Given the description of an element on the screen output the (x, y) to click on. 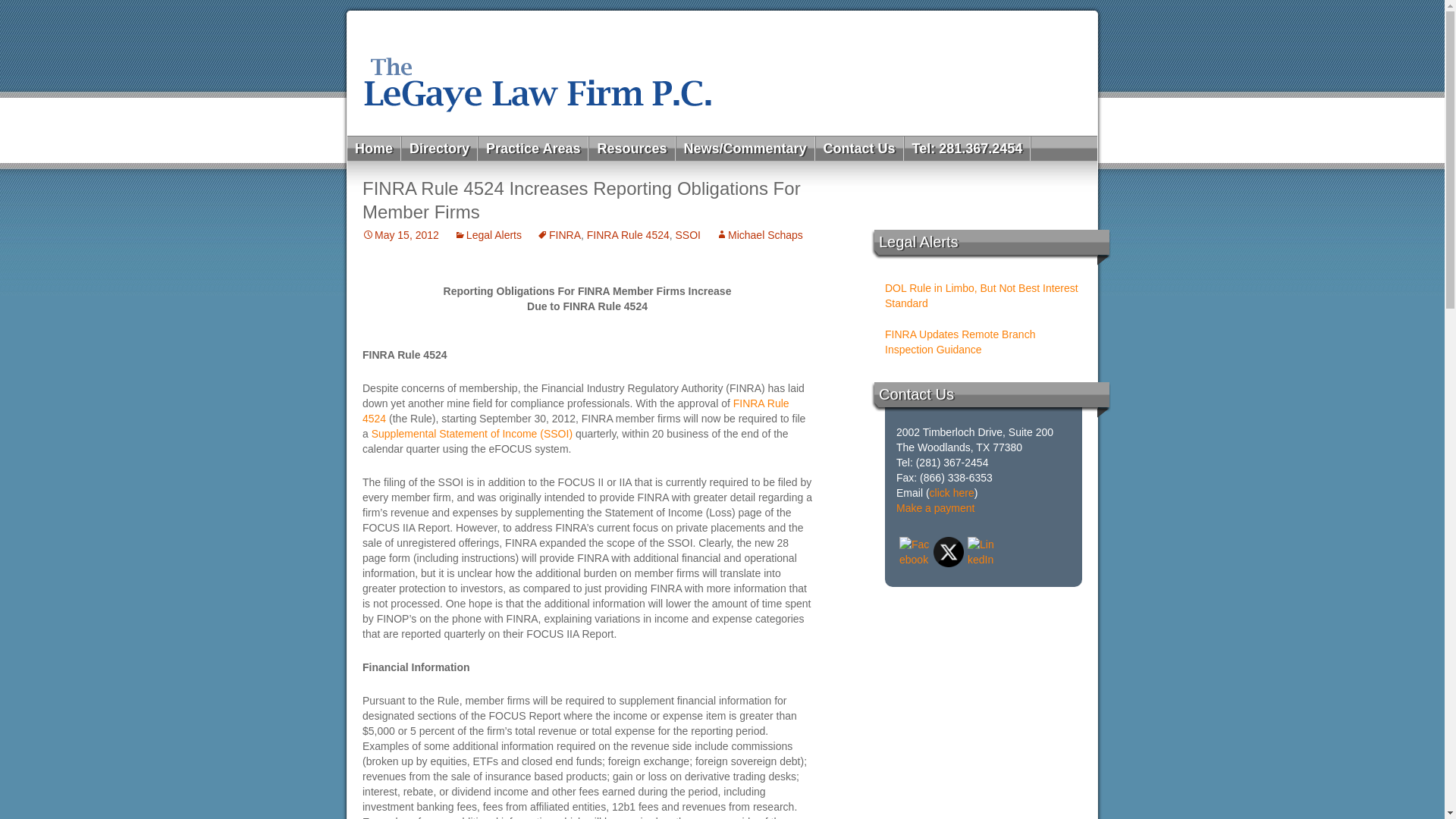
Broker Dealer Counsel (568, 173)
Tel: 281.367.2454 (967, 148)
Home (374, 148)
Compliance Resources (679, 173)
LeGaye Law Firm (722, 72)
View all posts by Michael Schaps (759, 234)
Facebook (914, 552)
